Given the description of an element on the screen output the (x, y) to click on. 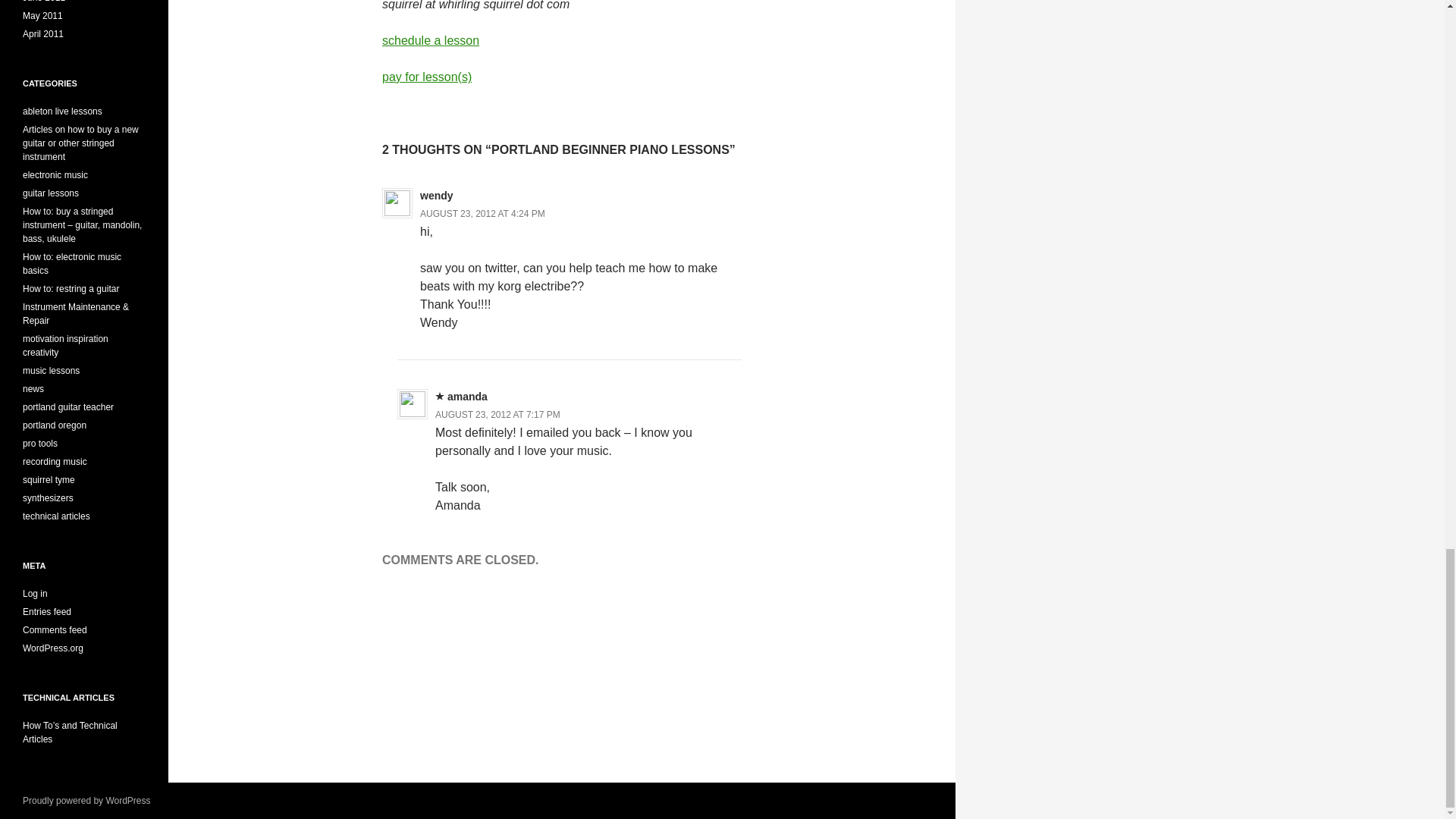
schedule a lesson (430, 40)
pay online (426, 76)
AUGUST 23, 2012 AT 7:17 PM (497, 414)
technical-articles (70, 732)
schedule (430, 40)
AUGUST 23, 2012 AT 4:24 PM (482, 213)
